Given the description of an element on the screen output the (x, y) to click on. 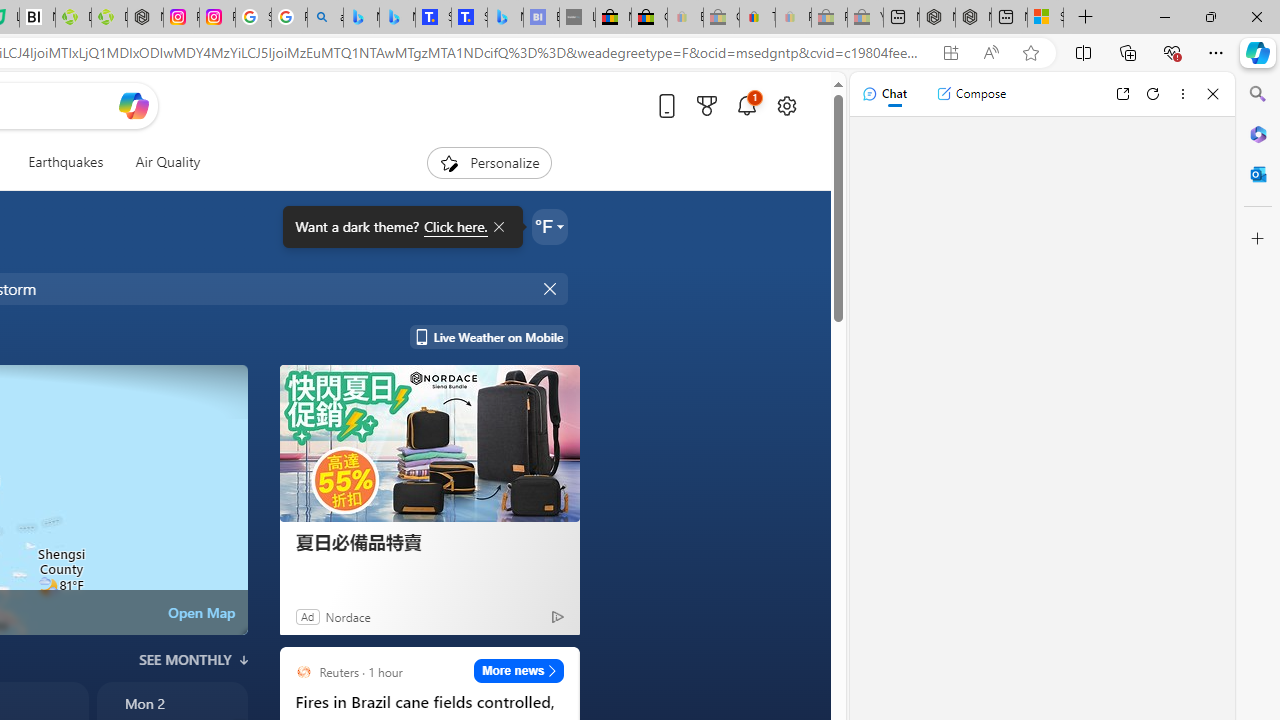
Weather settings Want a dark theme?Click here. (549, 226)
Sign in to your Microsoft account (1045, 17)
Nordace - Summer Adventures 2024 (973, 17)
Air Quality (167, 162)
App available. Install Microsoft Start Weather (950, 53)
Descarga Driver Updater (109, 17)
Ad (306, 615)
Nordace - Nordace Edin Collection (145, 17)
Microsoft Bing Travel - Shangri-La Hotel Bangkok (505, 17)
Open Copilot (132, 105)
